Given the description of an element on the screen output the (x, y) to click on. 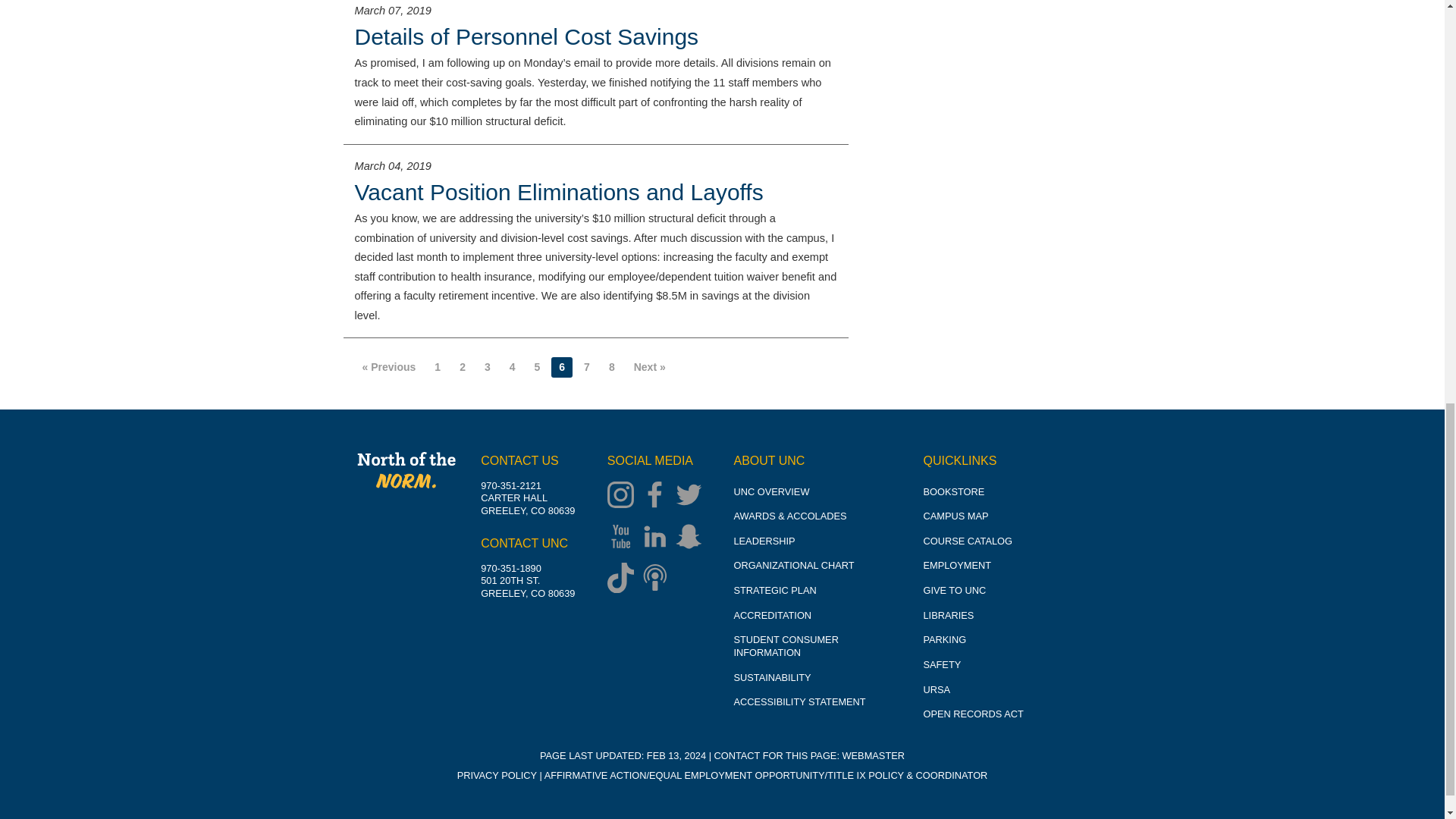
LinkedIn (658, 537)
TikTok (624, 579)
Instagram (624, 496)
Bear in Mind Podcast (658, 579)
YouTube (624, 537)
Facebook (658, 496)
Snapchat (692, 537)
Twitter (692, 496)
